Given the description of an element on the screen output the (x, y) to click on. 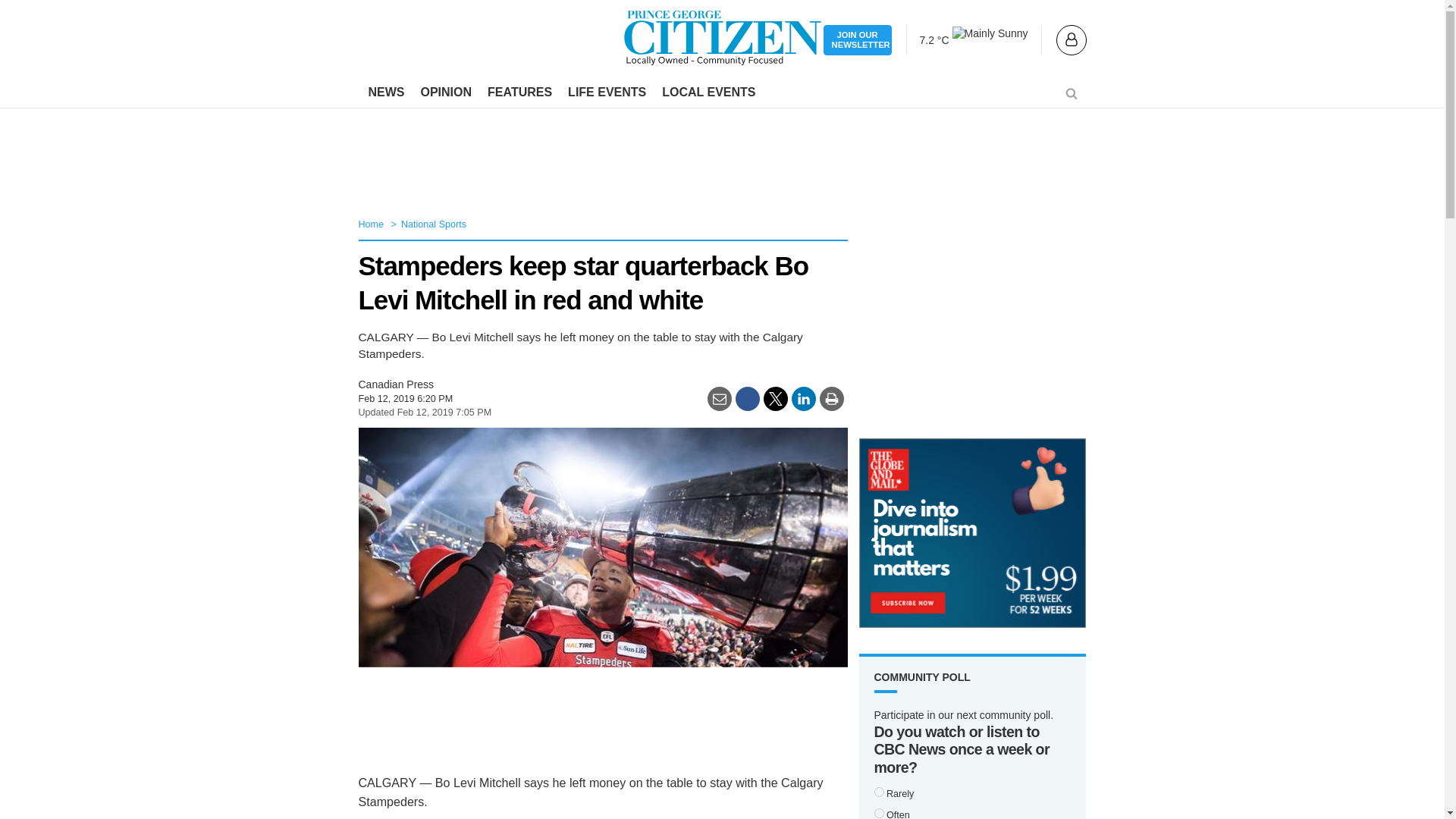
OPINION (445, 92)
118557 (878, 813)
JOIN OUR NEWSLETTER (857, 40)
118559 (878, 791)
NEWS (386, 92)
